Given the description of an element on the screen output the (x, y) to click on. 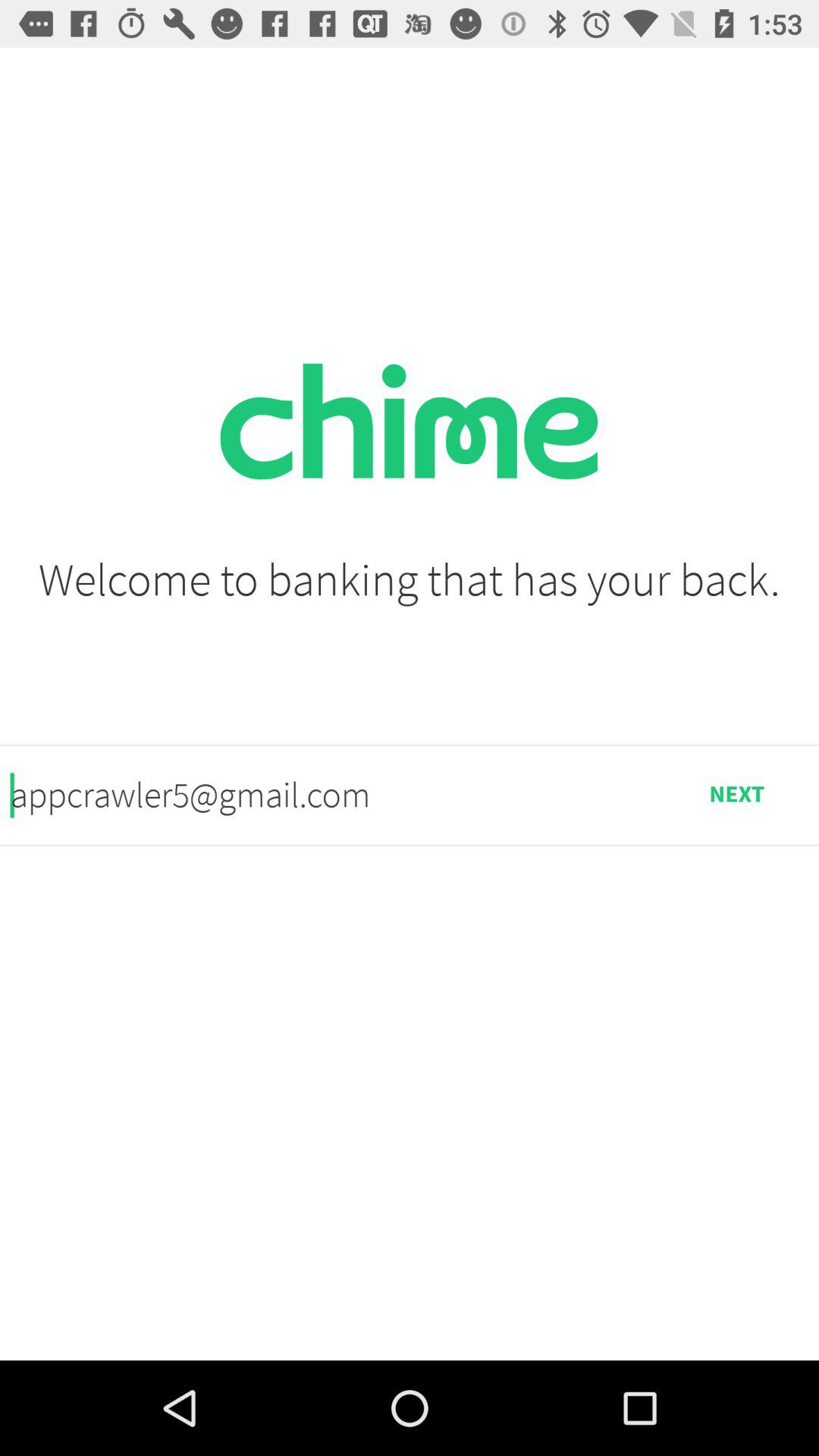
open icon next to the next icon (332, 794)
